Given the description of an element on the screen output the (x, y) to click on. 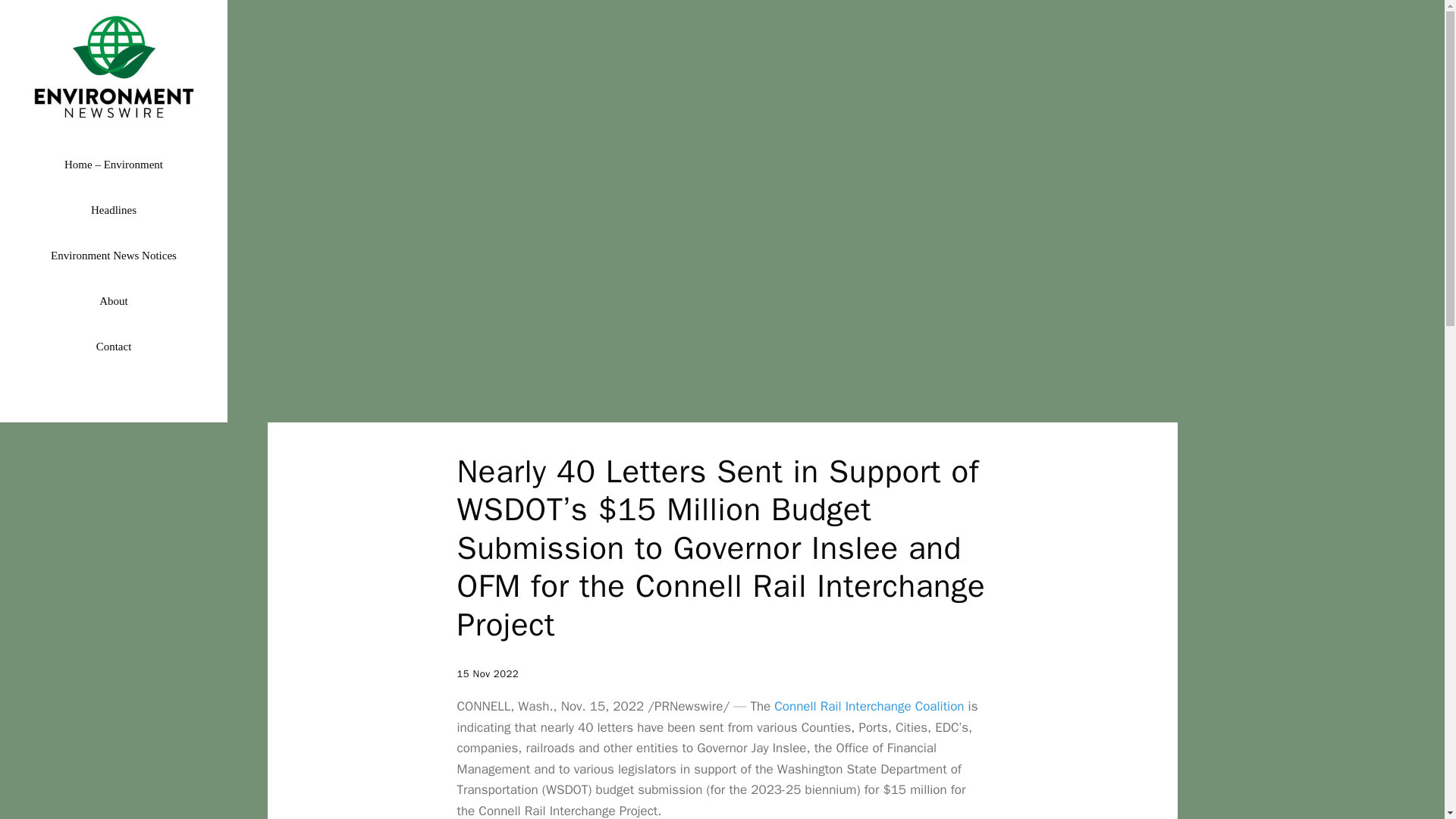
About (113, 300)
Environment News Notices (113, 255)
Contact (113, 346)
Connell Rail Interchange Coalition (868, 706)
